Given the description of an element on the screen output the (x, y) to click on. 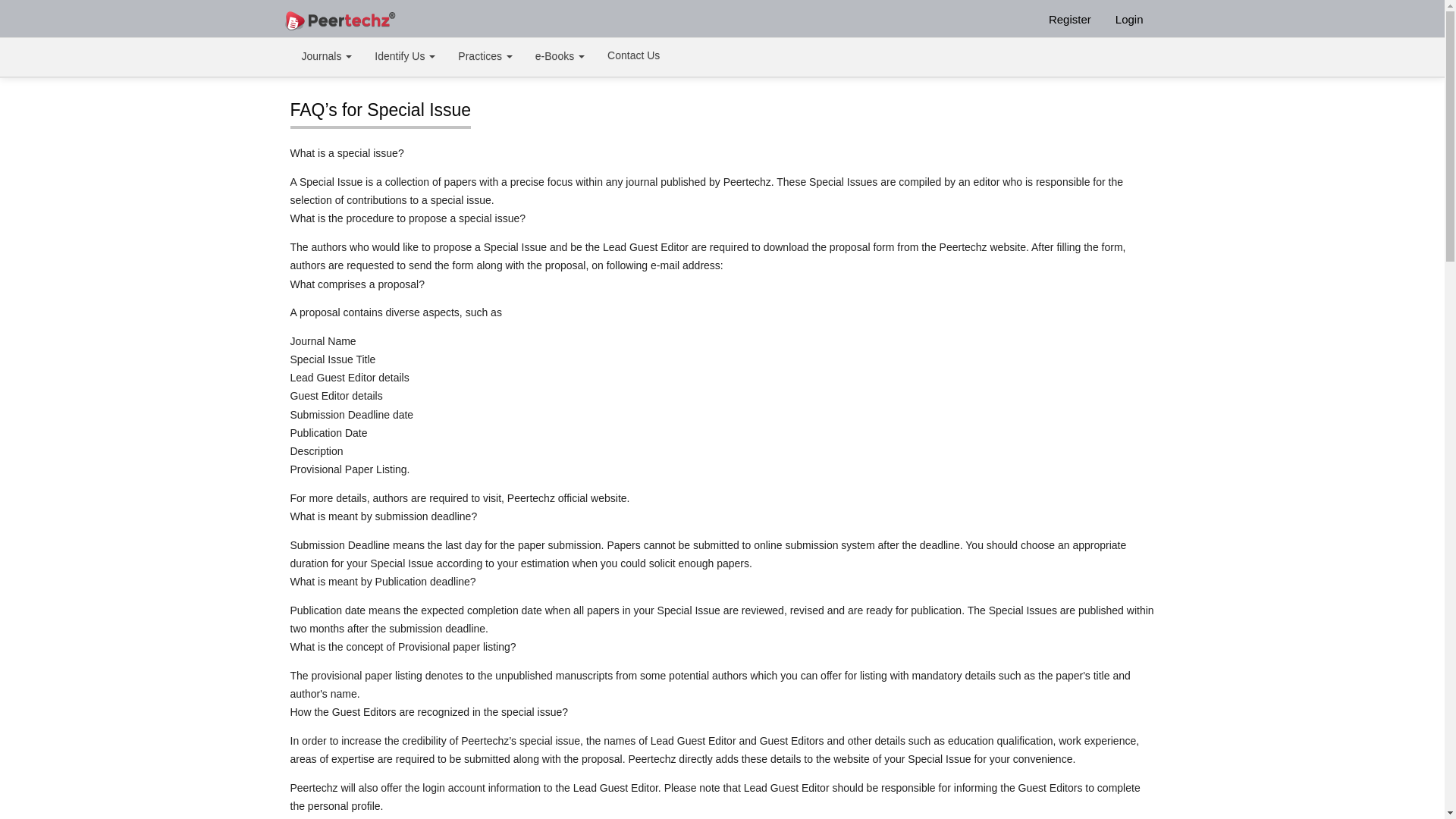
Contact Us (633, 55)
Identify Us (404, 56)
Journals (325, 56)
Login (1128, 18)
e-Books (559, 56)
Register (1069, 18)
Practices (484, 56)
